Given the description of an element on the screen output the (x, y) to click on. 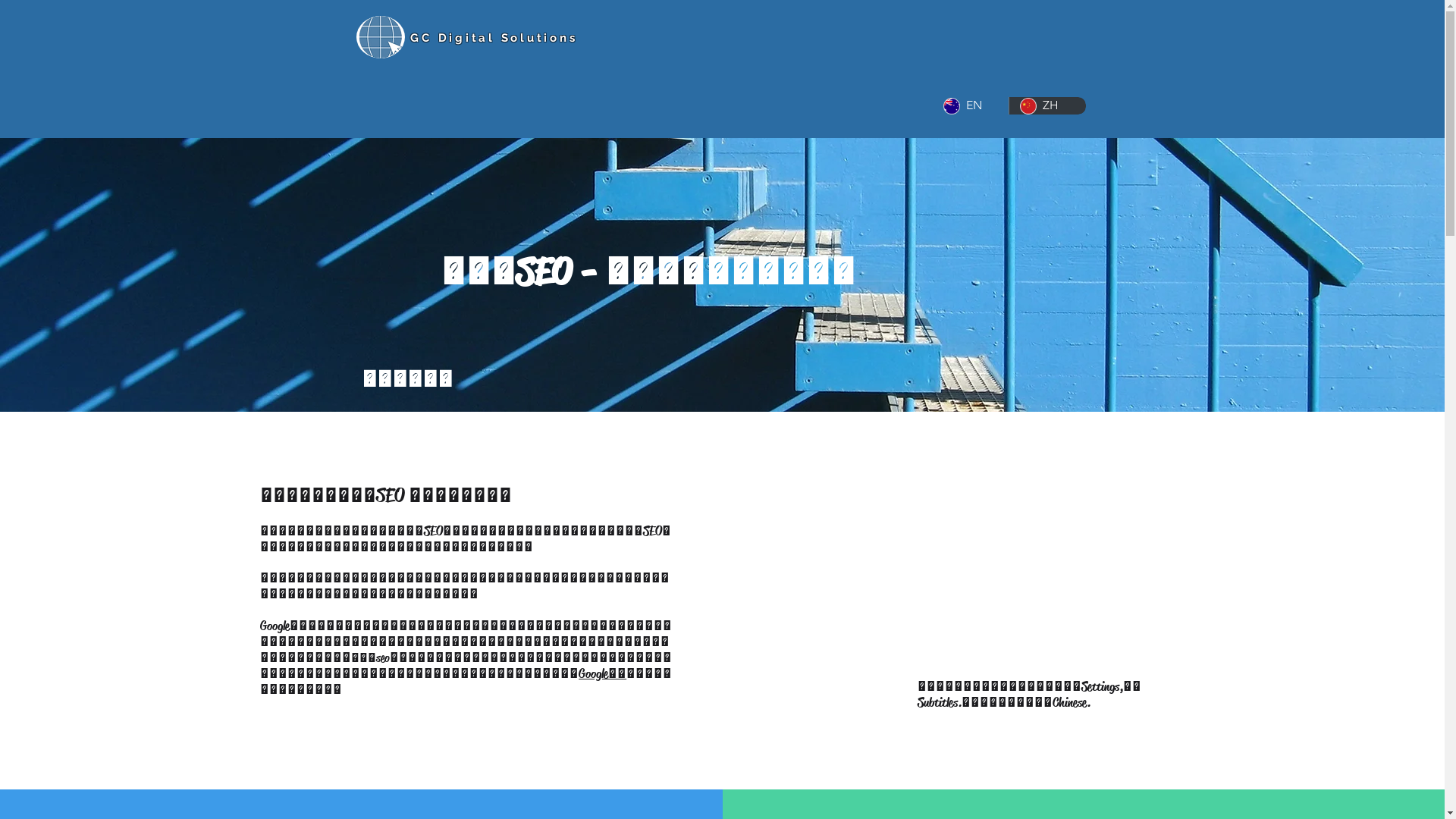
External YouTube Element type: hover (1024, 565)
 GC Digital Solutions Element type: text (490, 37)
ZH Element type: text (1046, 105)
EN Element type: text (970, 105)
